Given the description of an element on the screen output the (x, y) to click on. 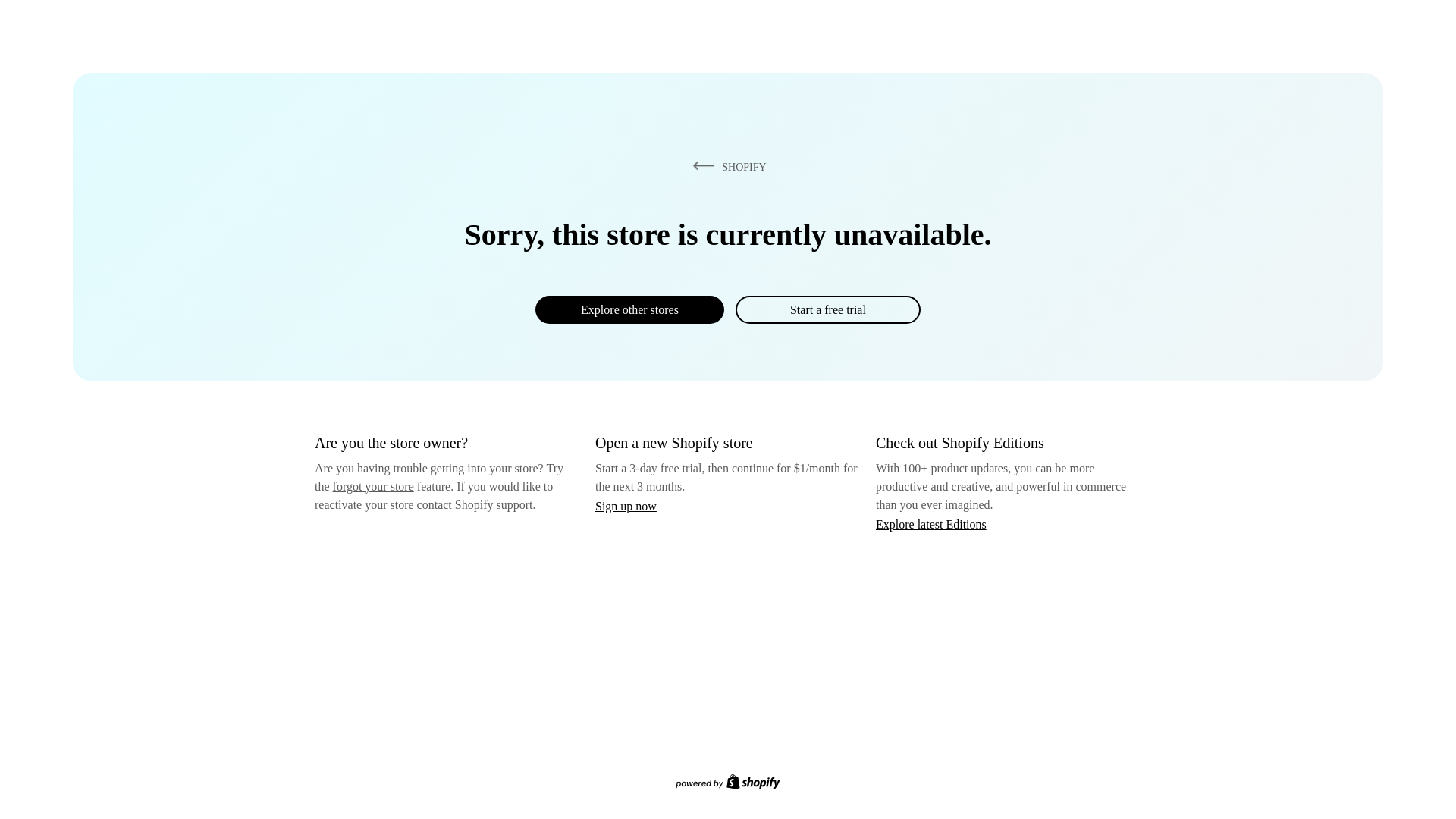
Sign up now (625, 505)
SHOPIFY (726, 166)
Explore latest Editions (931, 523)
Shopify support (493, 504)
forgot your store (373, 486)
Explore other stores (629, 309)
Start a free trial (827, 309)
